Given the description of an element on the screen output the (x, y) to click on. 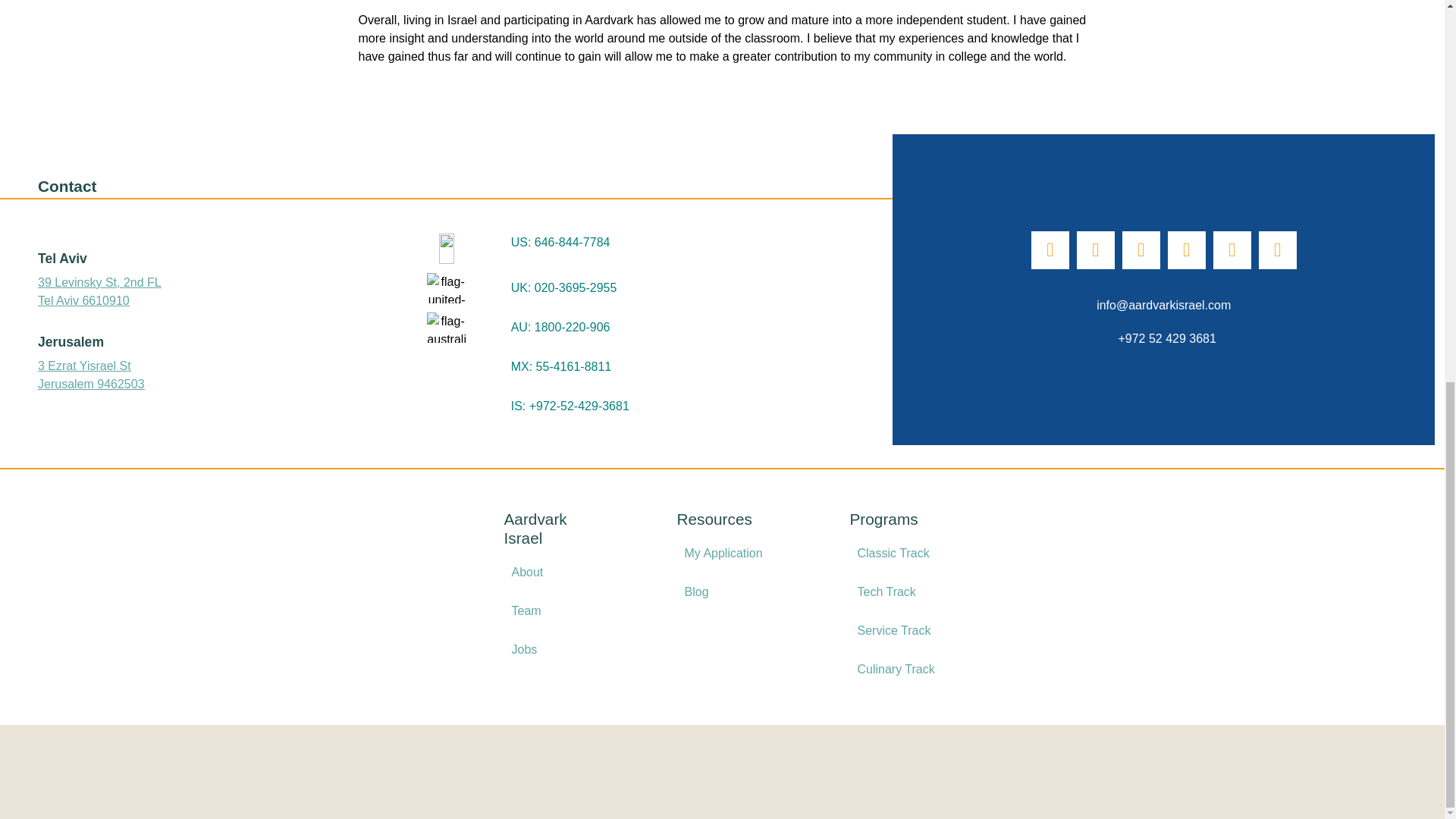
flag-israel (445, 406)
flag-mexico (445, 367)
flag-united-kingdom (445, 287)
flag-australia (445, 327)
